Given the description of an element on the screen output the (x, y) to click on. 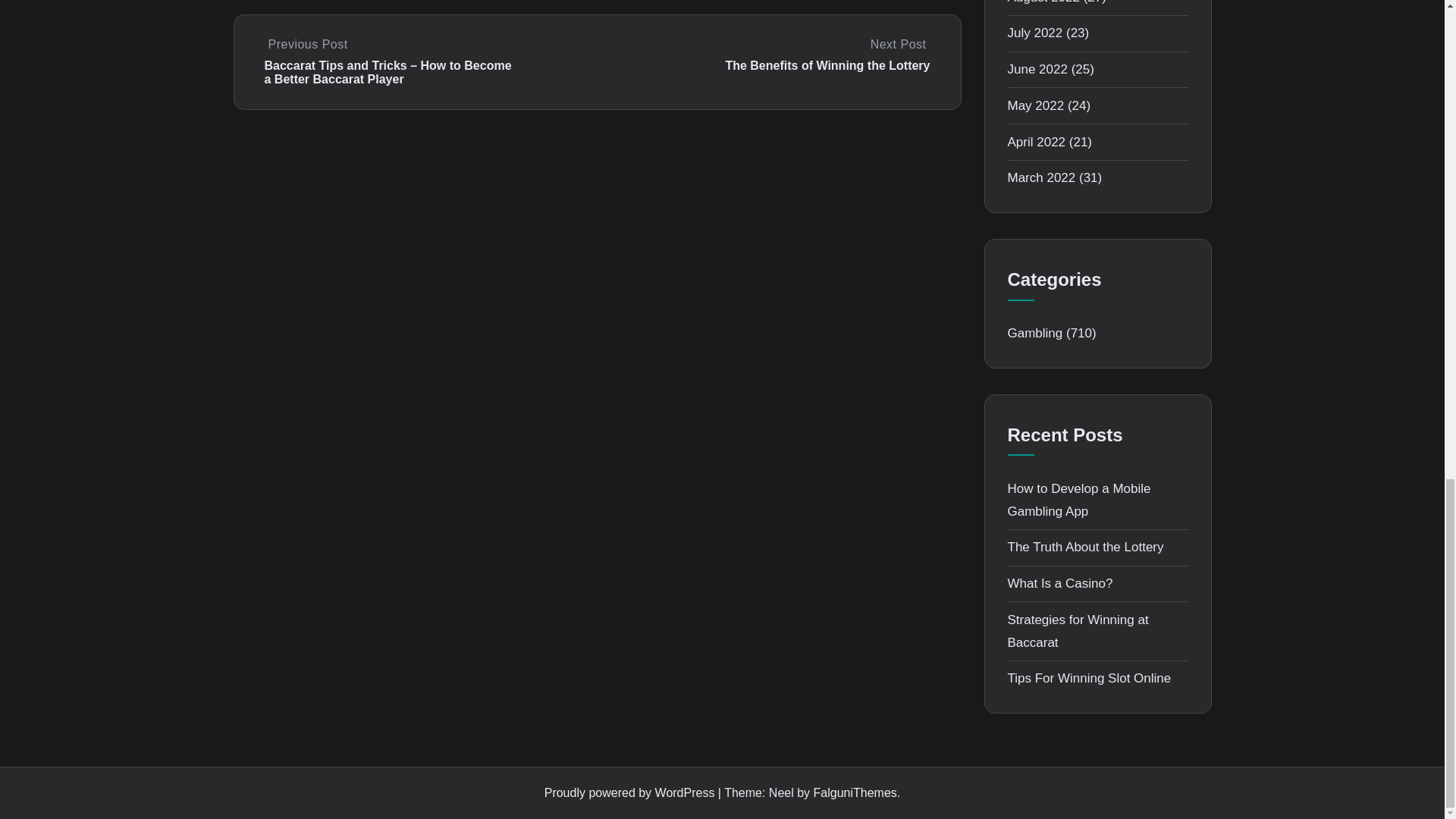
July 2022 (1034, 32)
August 2022 (1042, 2)
